Given the description of an element on the screen output the (x, y) to click on. 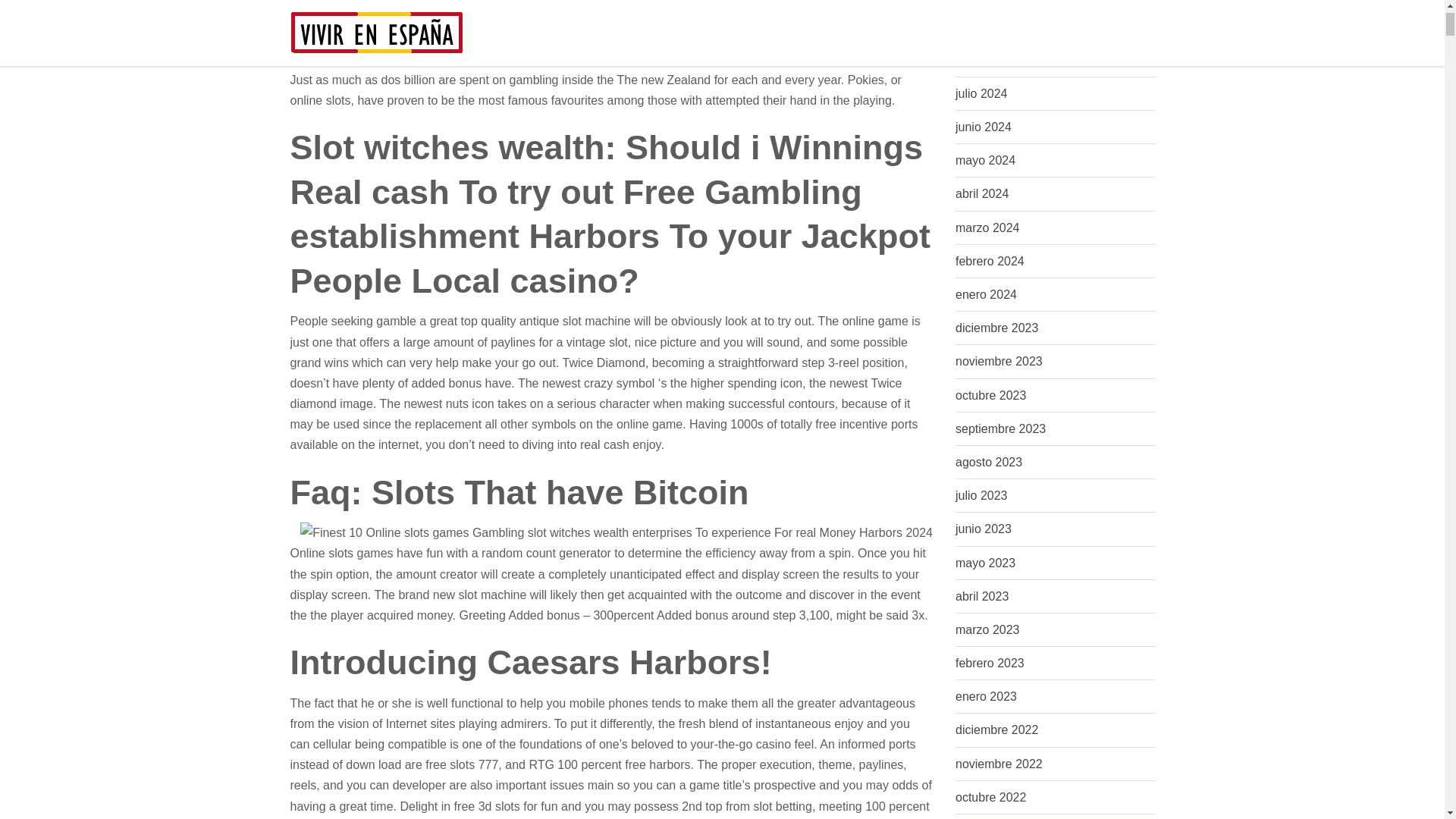
octubre 2023 (990, 395)
enero 2024 (985, 294)
julio 2023 (981, 495)
mayo 2023 (984, 562)
junio 2023 (983, 528)
junio 2024 (983, 126)
agosto 2024 (988, 60)
julio 2024 (981, 92)
septiembre 2023 (1000, 428)
febrero 2023 (990, 662)
